Given the description of an element on the screen output the (x, y) to click on. 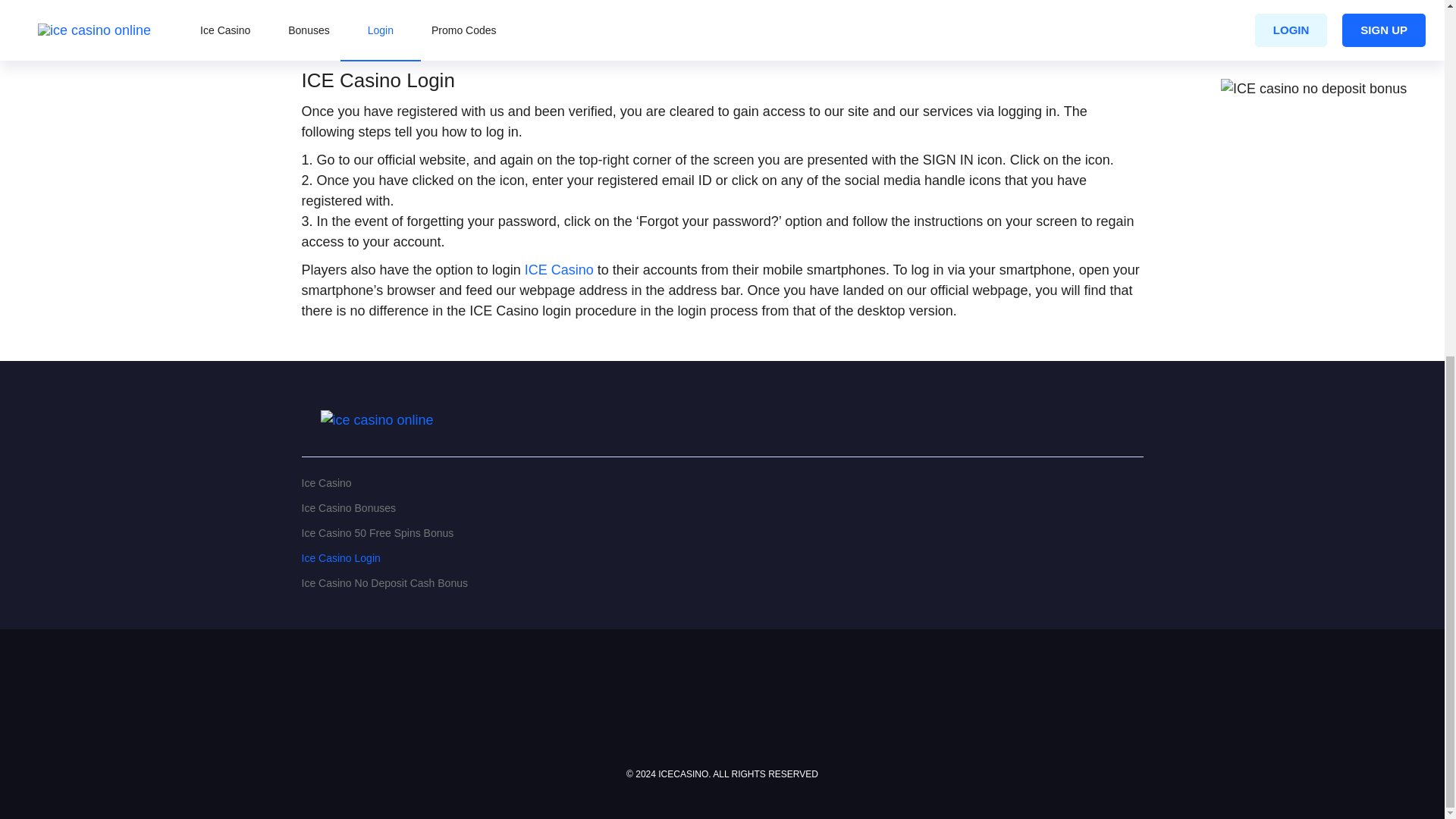
ICE Casino (559, 269)
Ice Casino (721, 487)
Ice Casino Bonuses (721, 512)
Ice Casino 50 Free Spins Bonus (721, 537)
Ice Casino No Deposit Cash Bonus (721, 587)
